Given the description of an element on the screen output the (x, y) to click on. 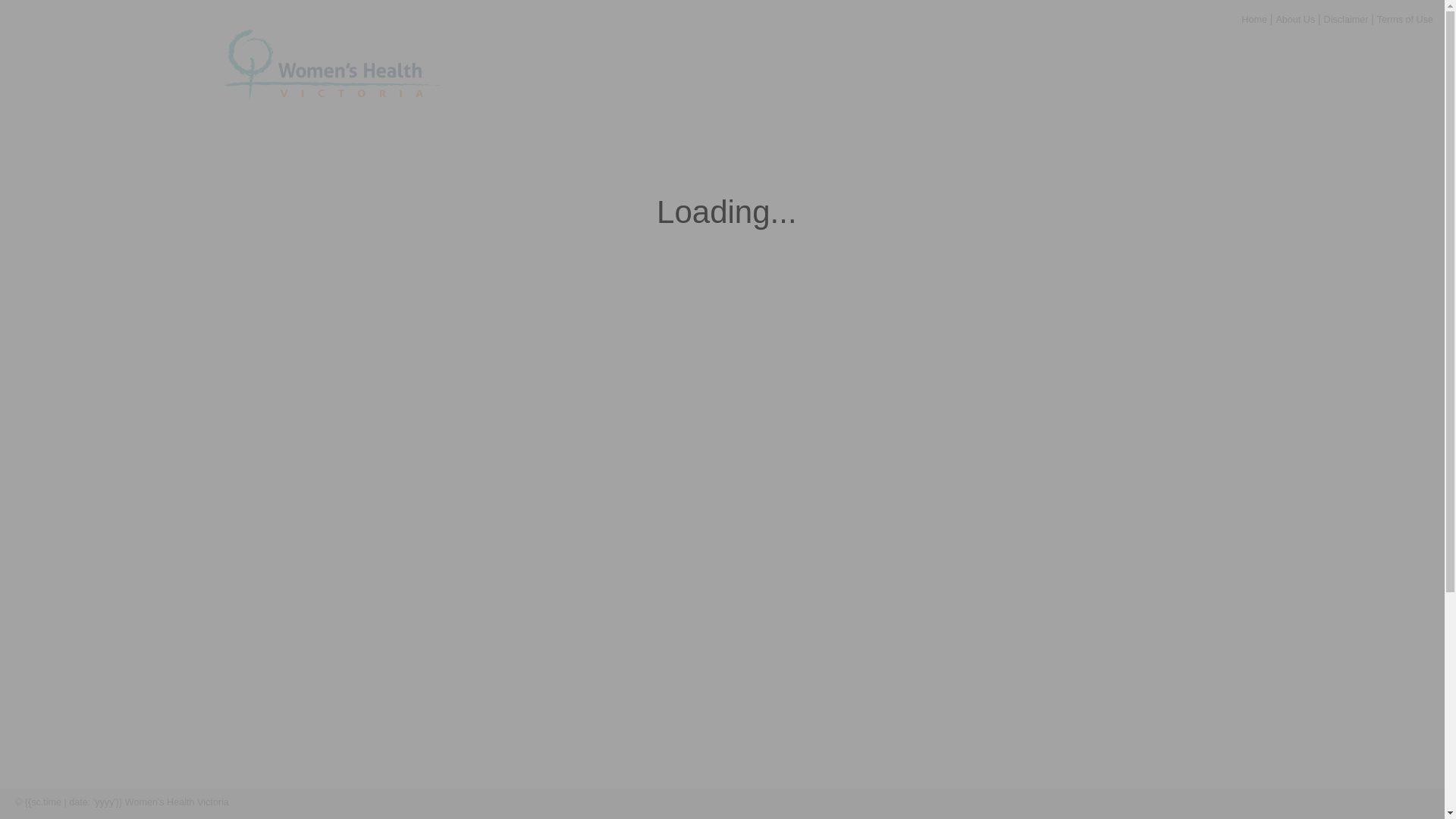
Disclaimer Element type: text (258, 802)
Terms of Use Element type: text (316, 802)
About Us Element type: text (1294, 19)
Home Element type: text (1254, 19)
Disclaimer Element type: text (1346, 19)
Terms of Use Element type: text (1405, 19)
